Given the description of an element on the screen output the (x, y) to click on. 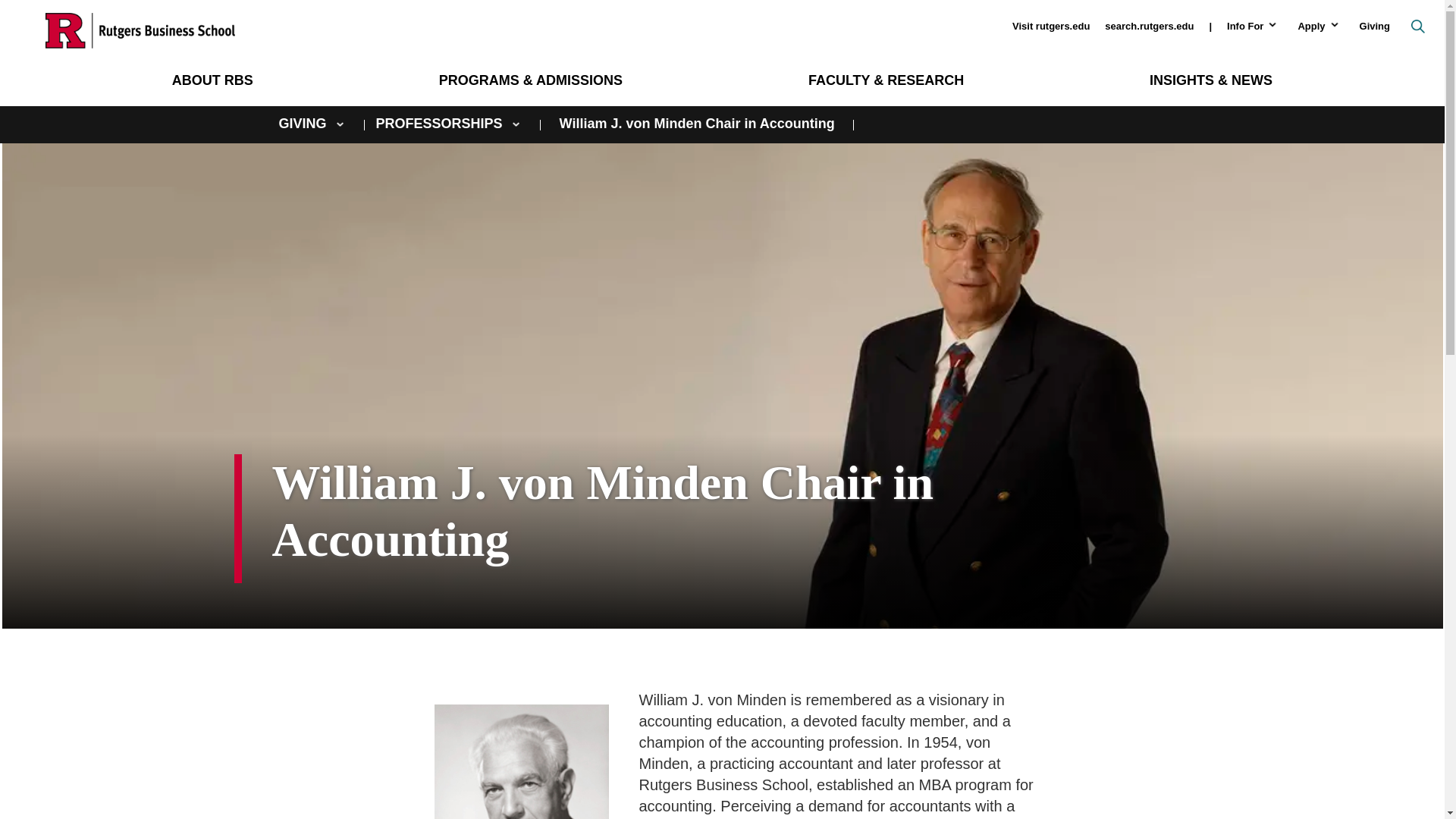
ABOUT RBS (212, 80)
search.rutgers.edu (1150, 26)
Visit rutgers.edu (1043, 26)
Giving (1366, 26)
